Given the description of an element on the screen output the (x, y) to click on. 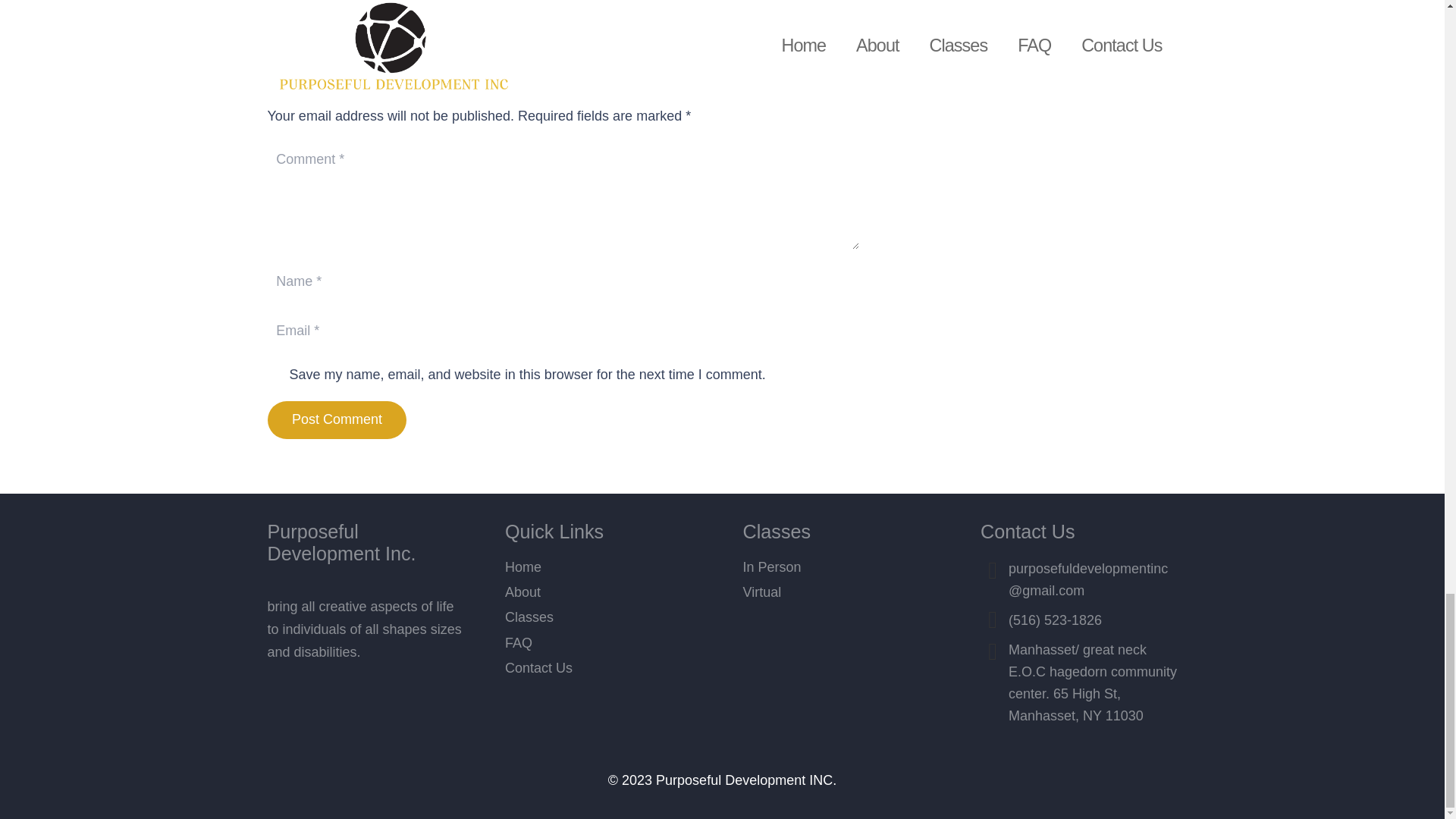
Online Casinos That Take Paypal (711, 2)
In Person (772, 566)
FAQ (518, 642)
1 (274, 375)
Best Free Spins No Deposit Casino Bonuses (414, 2)
Virtual (414, 2)
Home (761, 591)
Contact Us (523, 566)
About (538, 667)
Post Comment (711, 2)
Classes (522, 591)
